Given the description of an element on the screen output the (x, y) to click on. 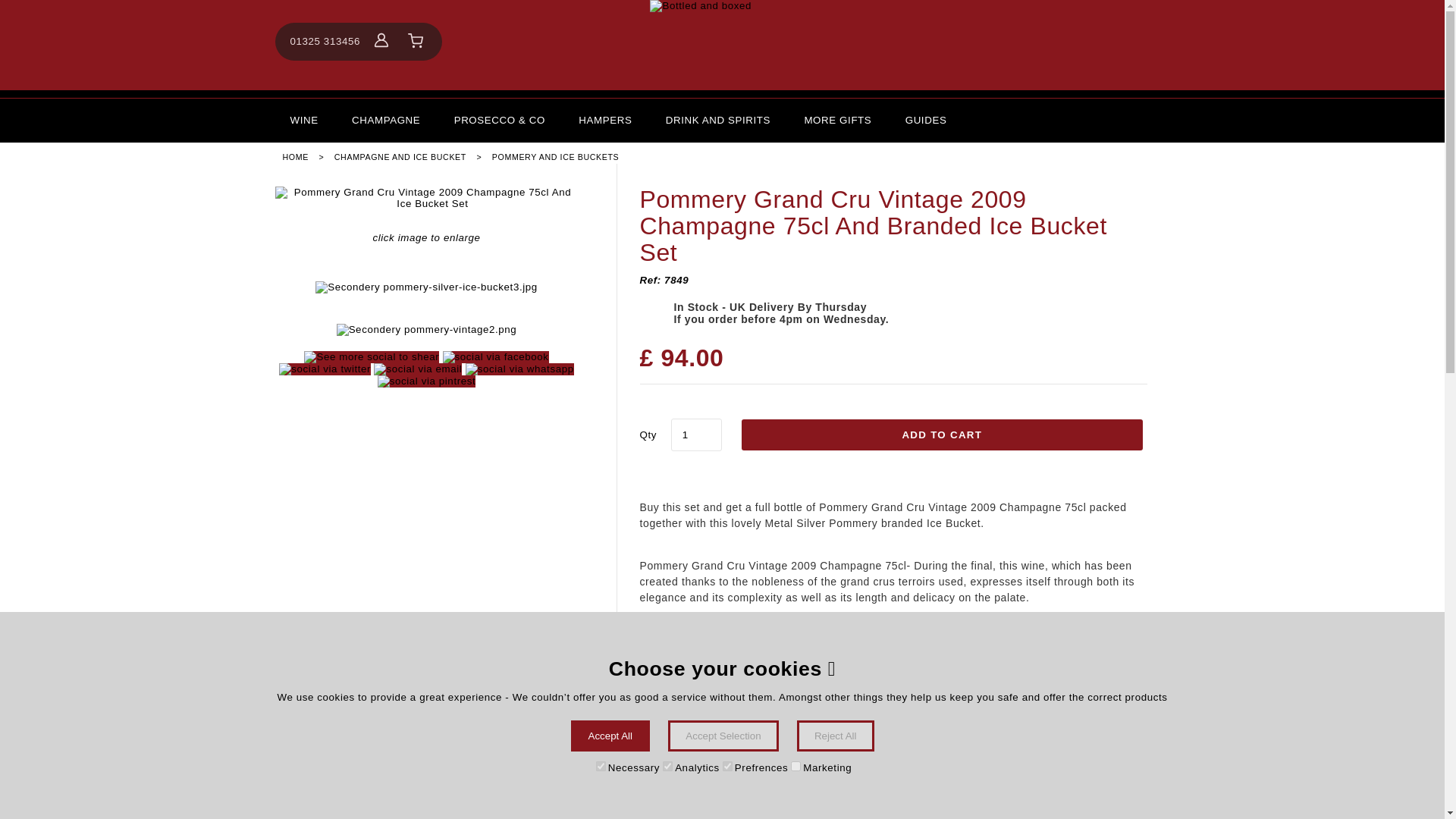
Home (721, 45)
Marketing (795, 766)
View Basket (415, 41)
Analytics (667, 766)
Basket button (415, 40)
1 (696, 435)
Prefrences (727, 766)
Wine Delivery in the UK (304, 120)
Necessary (600, 766)
WINE (304, 120)
Accout button (381, 39)
Manage Account (380, 41)
Basket button (415, 41)
Accout button (380, 41)
